Given the description of an element on the screen output the (x, y) to click on. 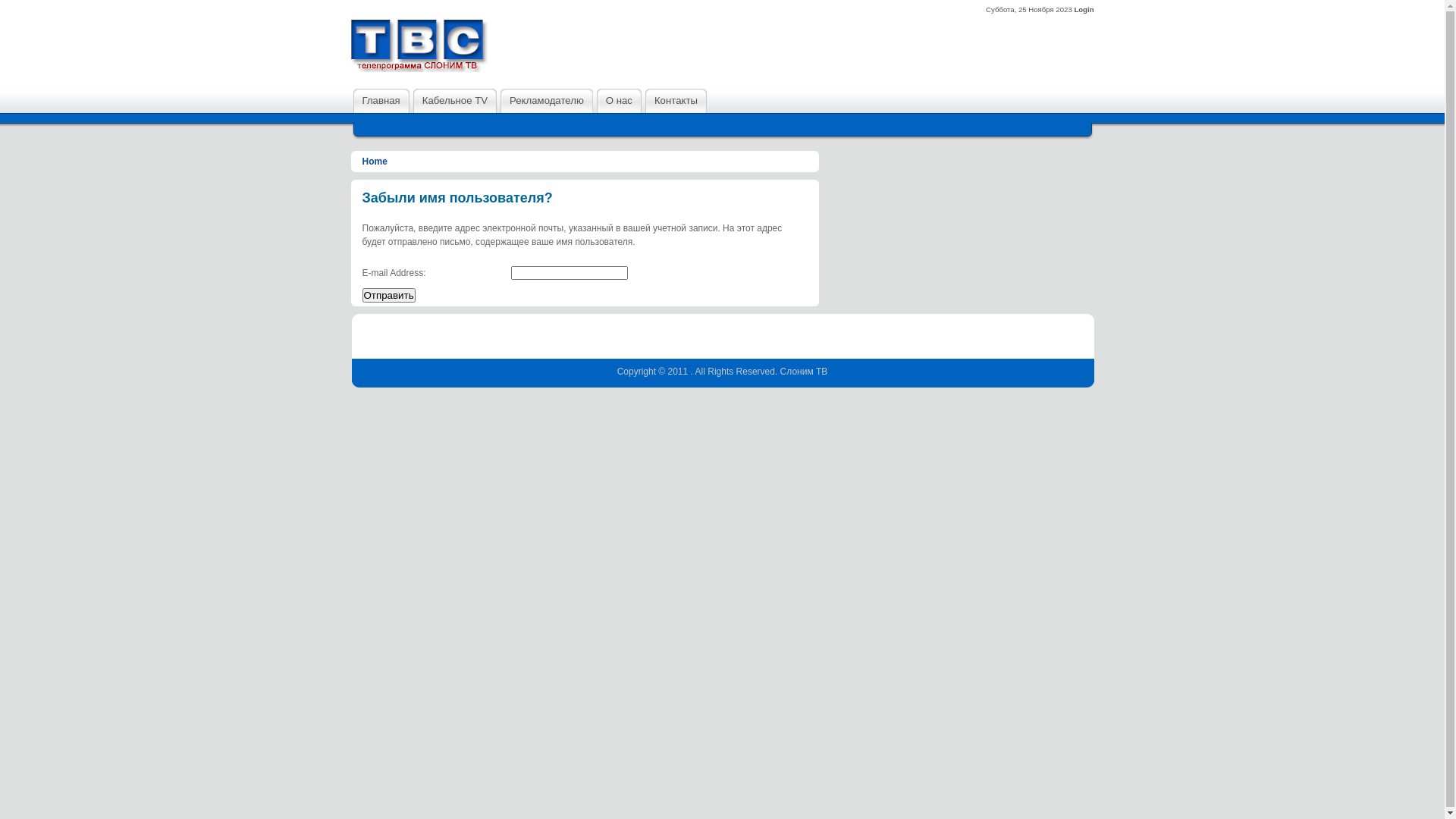
Login Element type: text (1083, 9)
